Given the description of an element on the screen output the (x, y) to click on. 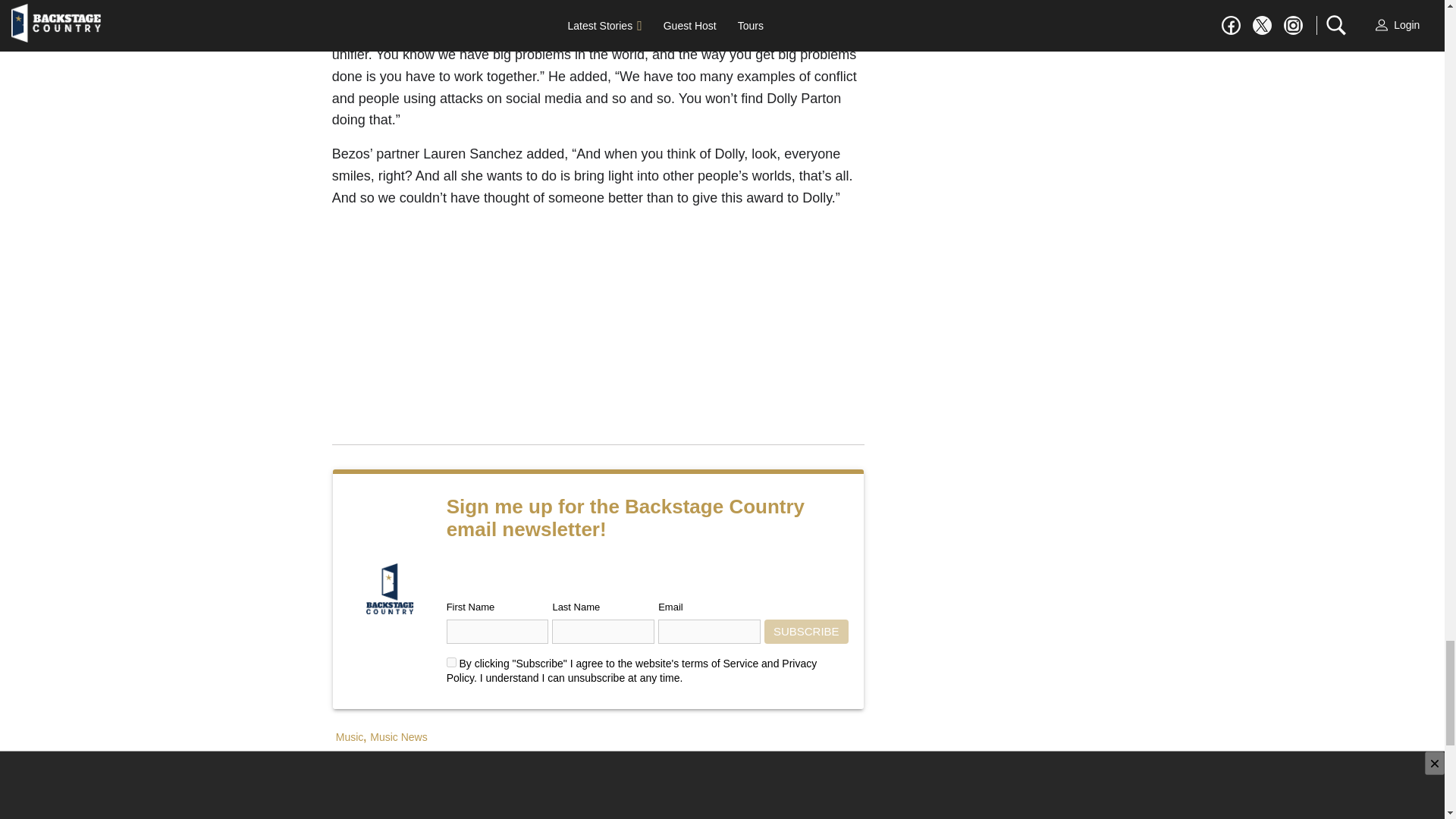
on (451, 662)
